Given the description of an element on the screen output the (x, y) to click on. 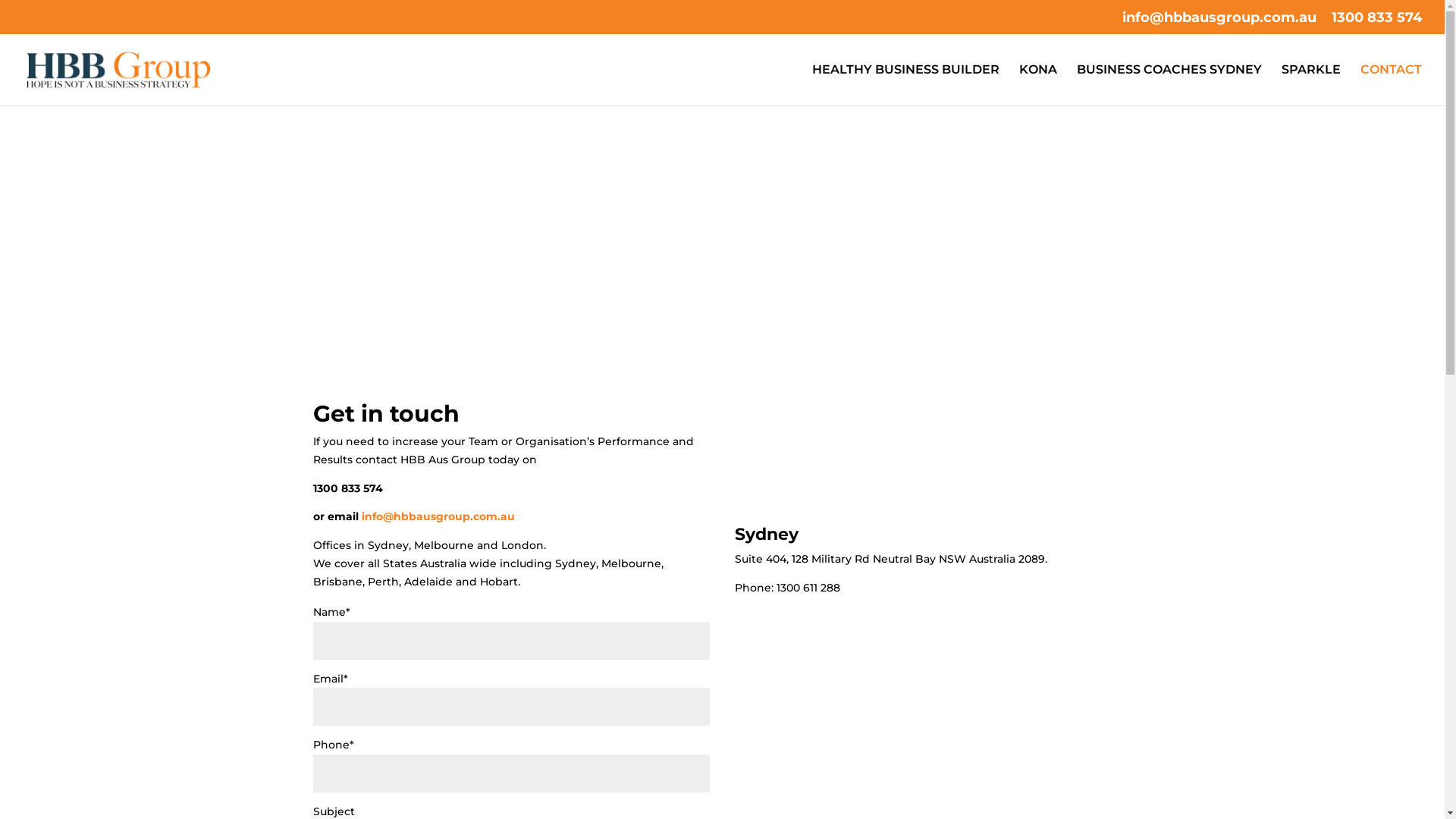
1300 833 574 Element type: text (1376, 22)
info@hbbausgroup.com.au Element type: text (1219, 22)
BUSINESS COACHES SYDNEY Element type: text (1168, 84)
info@hbbausgroup.com.au Element type: text (437, 516)
HEALTHY BUSINESS BUILDER Element type: text (905, 84)
CONTACT Element type: text (1390, 84)
How Much Does It Cost? Element type: hover (510, 278)
KONA Element type: text (1038, 84)
SPARKLE Element type: text (1310, 84)
